Given the description of an element on the screen output the (x, y) to click on. 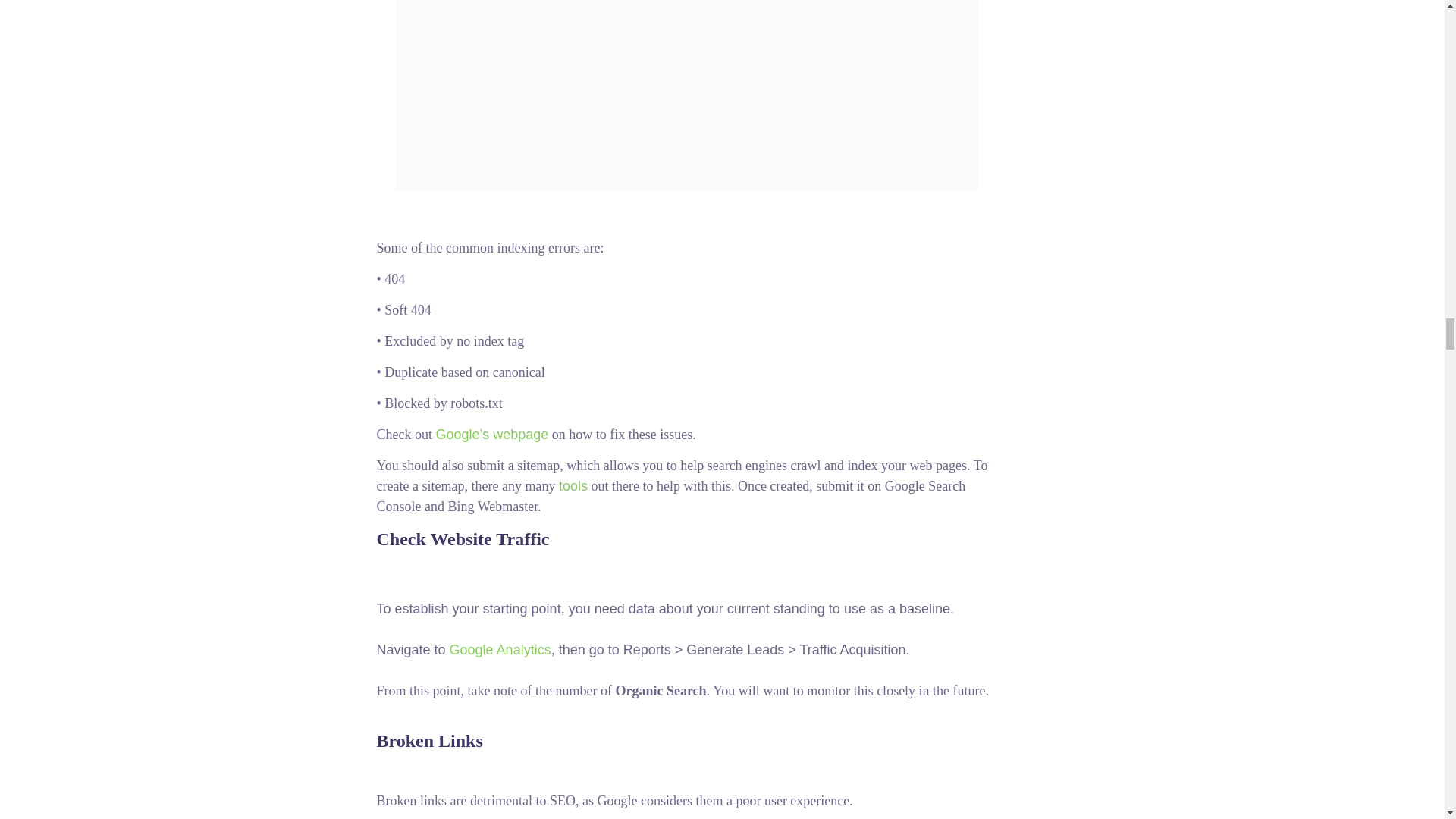
Google Search Console (687, 95)
